Given the description of an element on the screen output the (x, y) to click on. 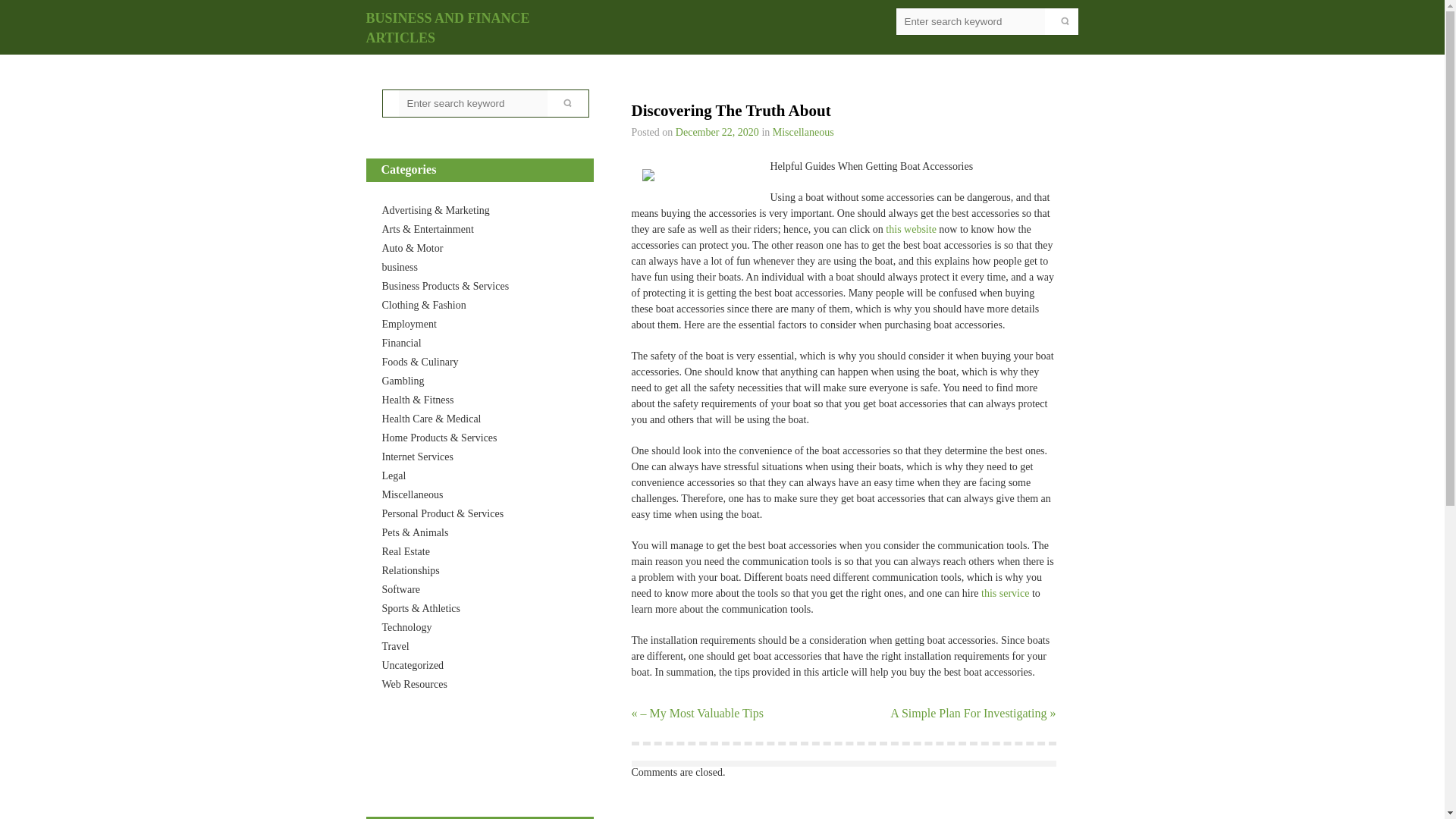
Uncategorized (412, 665)
Gambling (403, 380)
Relationships (410, 570)
Miscellaneous (412, 494)
Financial (401, 342)
December 22, 2020 (716, 132)
business (399, 266)
Web Resources (413, 684)
Discovering The Truth About (716, 132)
Travel (395, 645)
